Given the description of an element on the screen output the (x, y) to click on. 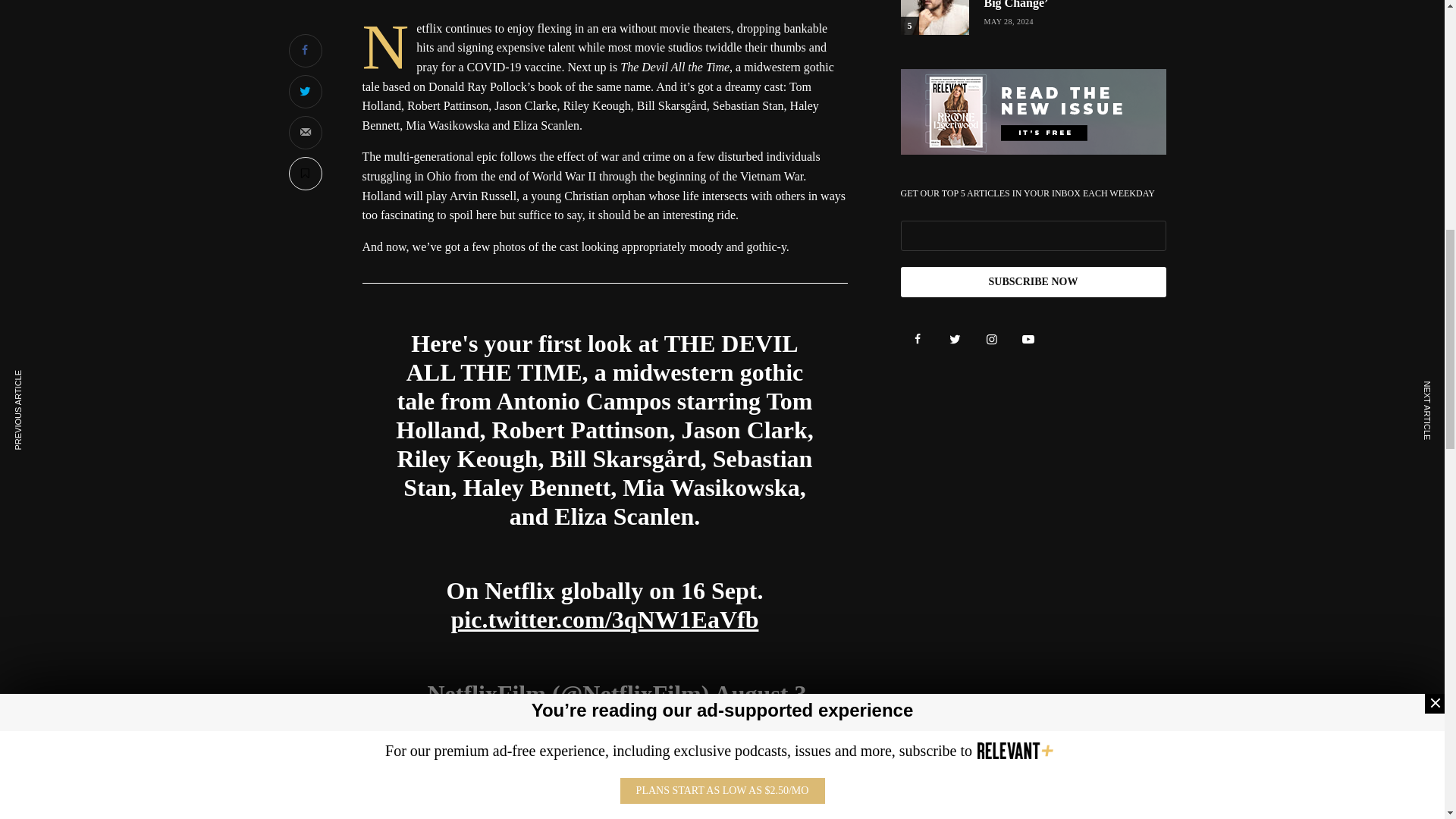
Subscribe Now (1033, 281)
